Given the description of an element on the screen output the (x, y) to click on. 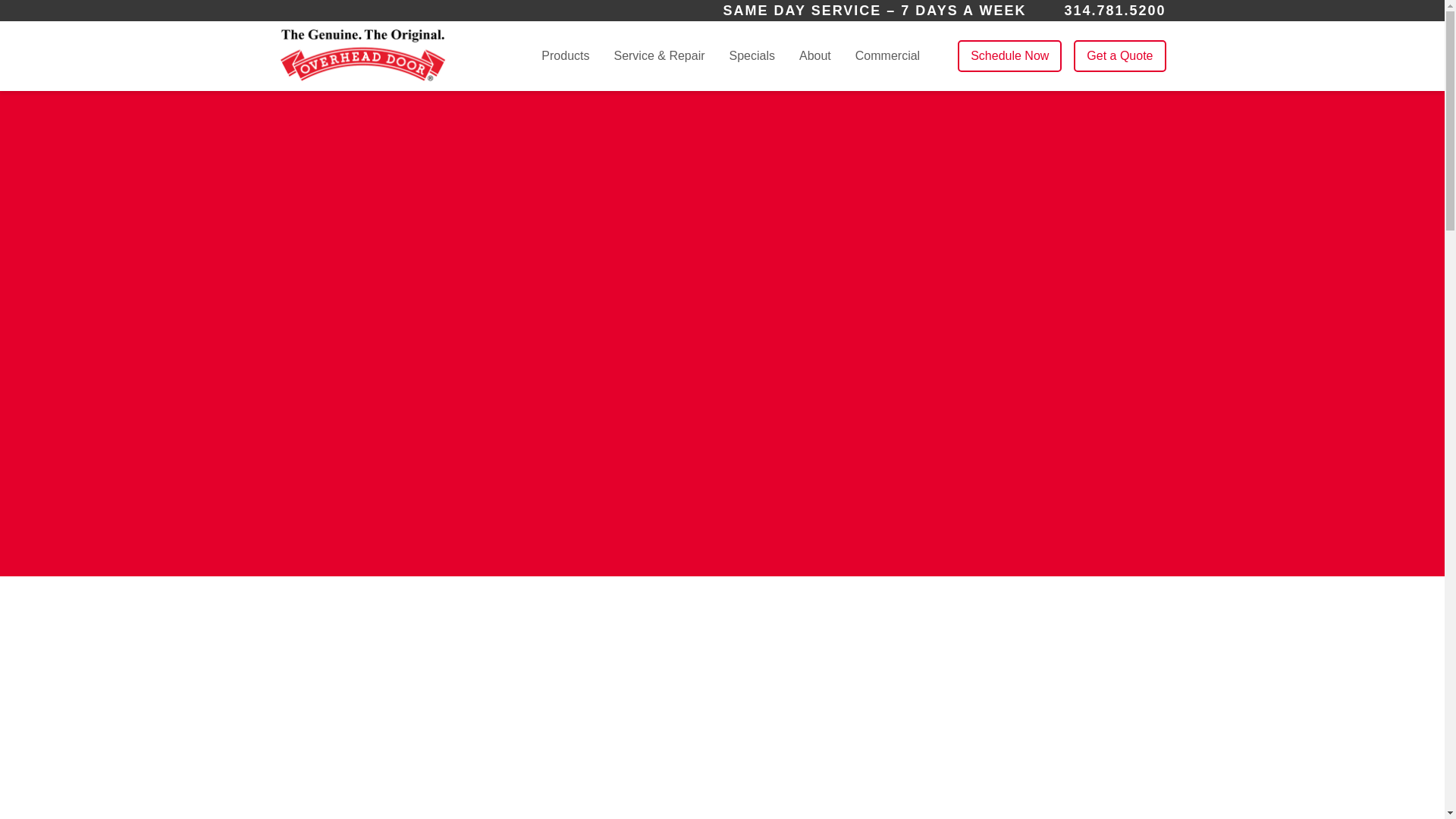
Get a Quote (1120, 56)
Commercial (888, 55)
314.781.5200 (1115, 10)
Schedule Now (1009, 56)
Specials (751, 55)
About (815, 55)
Products (565, 55)
